Given the description of an element on the screen output the (x, y) to click on. 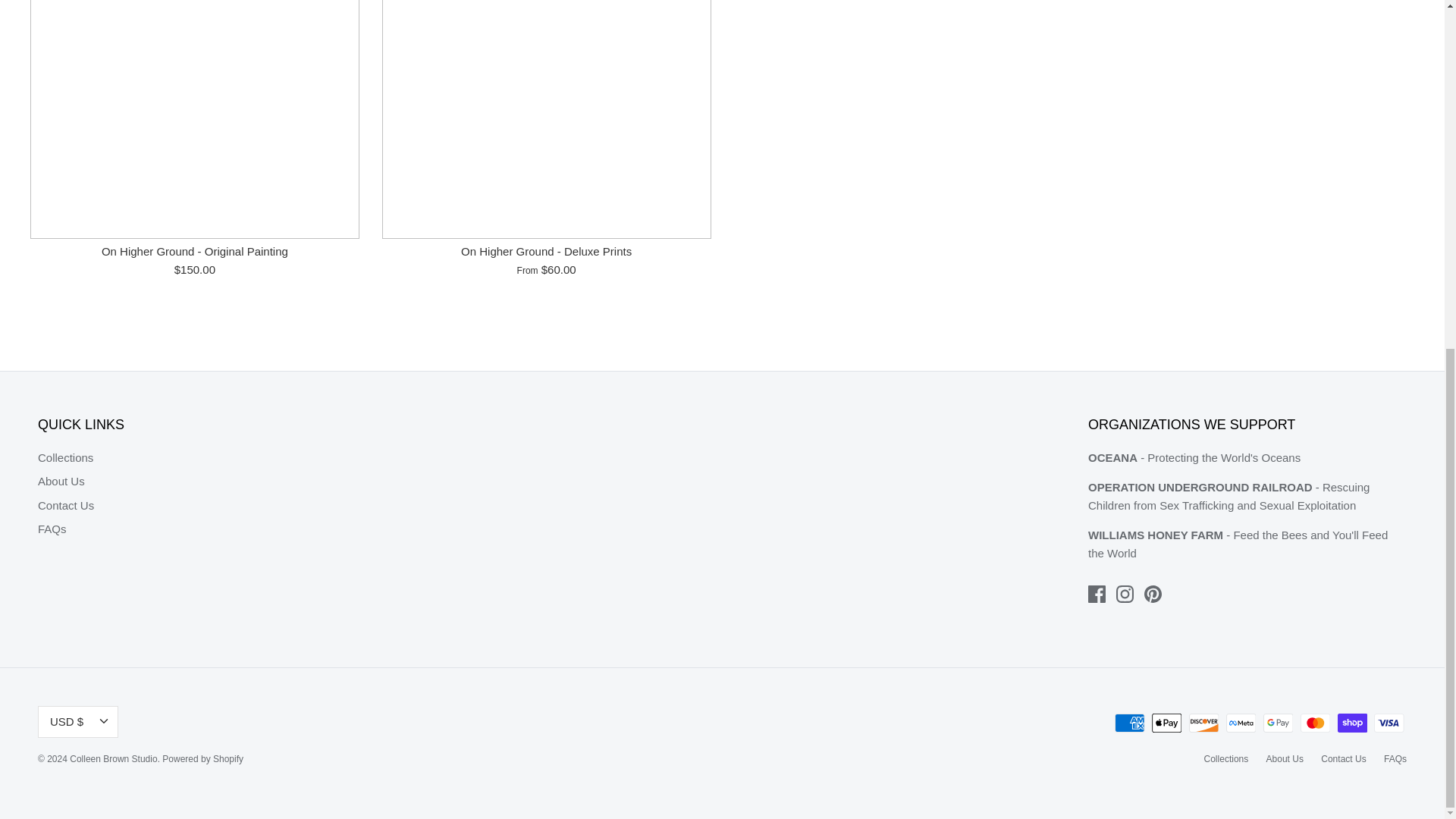
Visa (1388, 722)
Shop Pay (1352, 722)
Mastercard (1315, 722)
Pinterest (1152, 593)
Meta Pay (1240, 722)
Apple Pay (1166, 722)
Google Pay (1277, 722)
Down (103, 721)
American Express (1129, 722)
Facebook (1096, 593)
Instagram (1125, 593)
Discover (1203, 722)
